Given the description of an element on the screen output the (x, y) to click on. 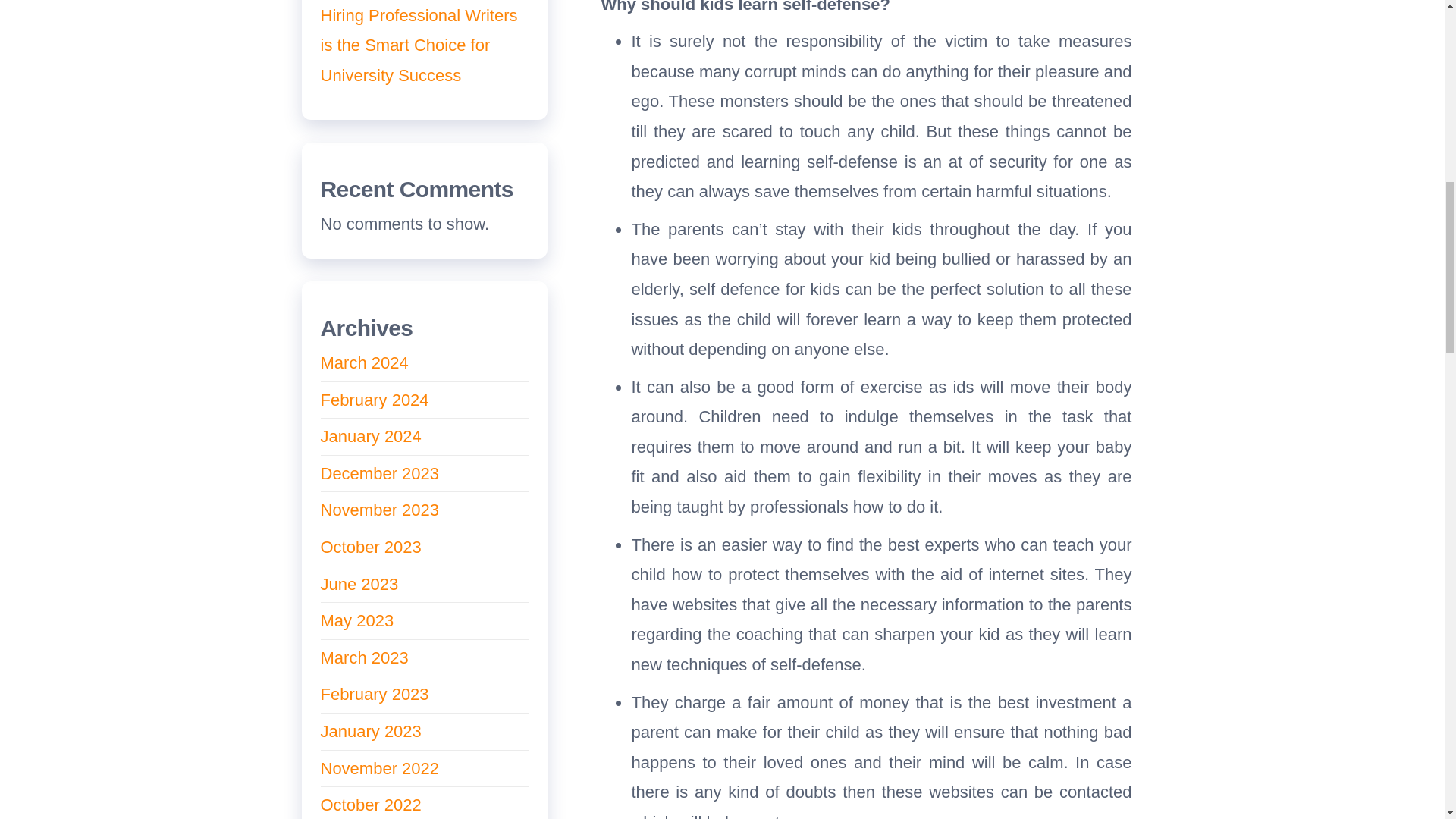
February 2024 (374, 399)
January 2023 (370, 731)
June 2023 (358, 583)
February 2023 (374, 693)
December 2023 (379, 473)
October 2023 (370, 546)
October 2022 (370, 804)
March 2024 (363, 362)
May 2023 (356, 619)
November 2023 (379, 509)
November 2022 (379, 768)
January 2024 (370, 435)
March 2023 (363, 657)
